Given the description of an element on the screen output the (x, y) to click on. 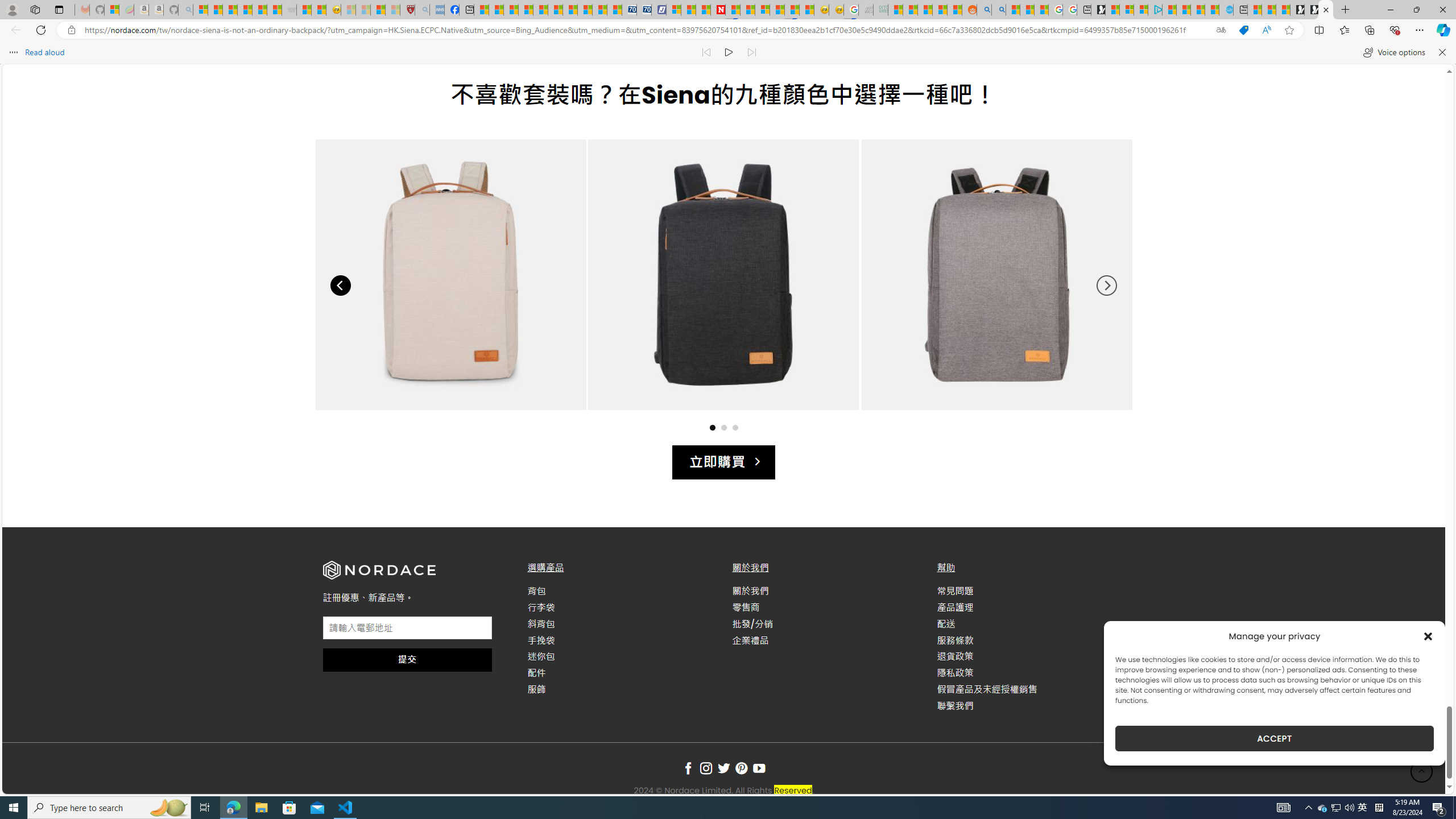
Browser essentials (1394, 29)
Play Free Online Games | Games from Microsoft Start (1311, 9)
Page dot 2 (723, 427)
Microsoft account | Privacy (1140, 9)
Voice options (1393, 52)
New Report Confirms 2023 Was Record Hot | Watch (259, 9)
Show translate options (1220, 29)
Follow on YouTube (758, 768)
